Given the description of an element on the screen output the (x, y) to click on. 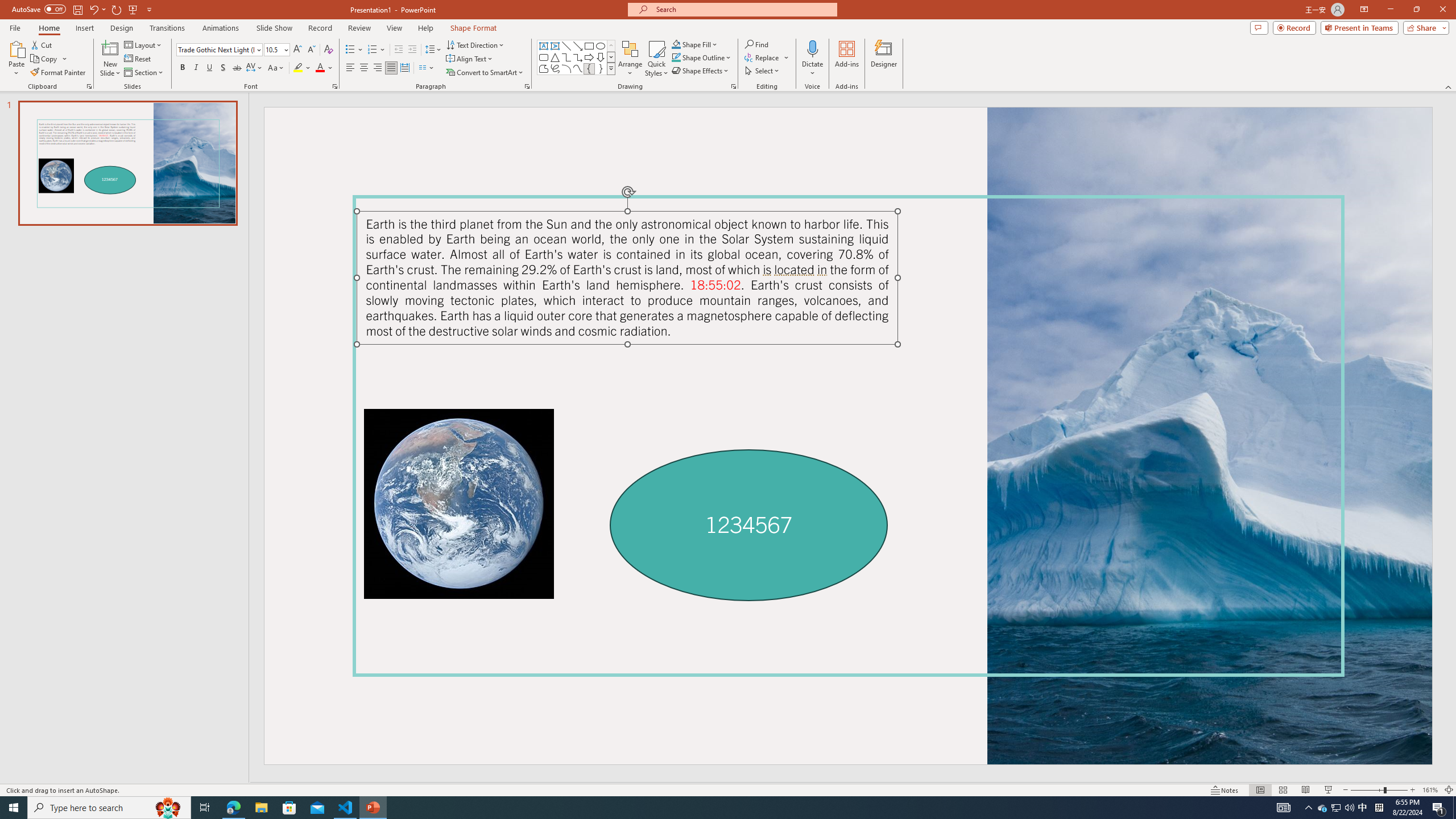
Align Text (470, 58)
Arrange (630, 58)
Paragraph... (526, 85)
Increase Indent (412, 49)
Distributed (404, 67)
Dictate (812, 48)
Font... (334, 85)
Class: NetUIImage (610, 68)
Columns (426, 67)
Replace... (767, 56)
